Given the description of an element on the screen output the (x, y) to click on. 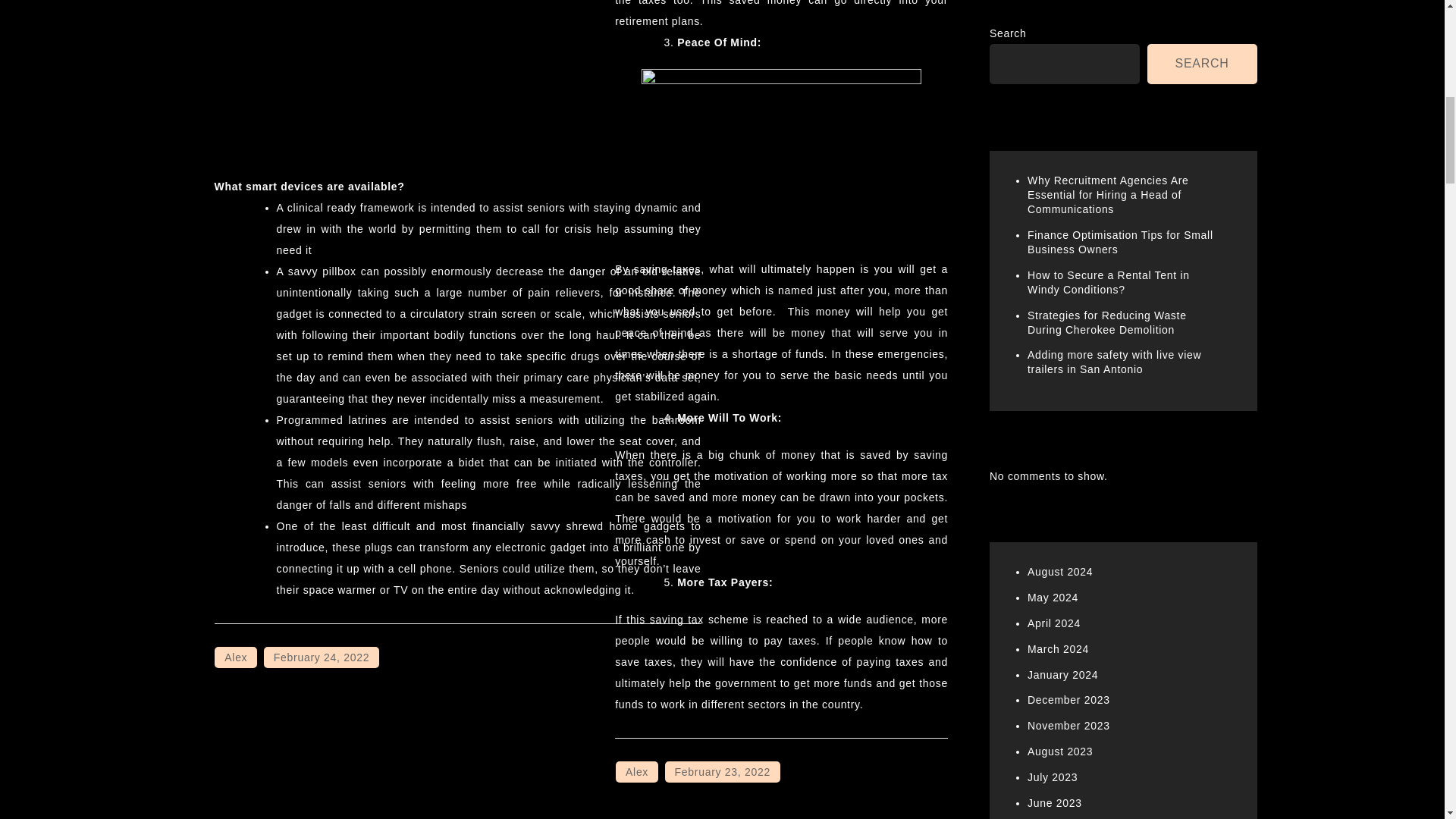
February 23, 2022 (722, 771)
February 24, 2022 (320, 657)
Alex (636, 771)
Alex (235, 657)
